Given the description of an element on the screen output the (x, y) to click on. 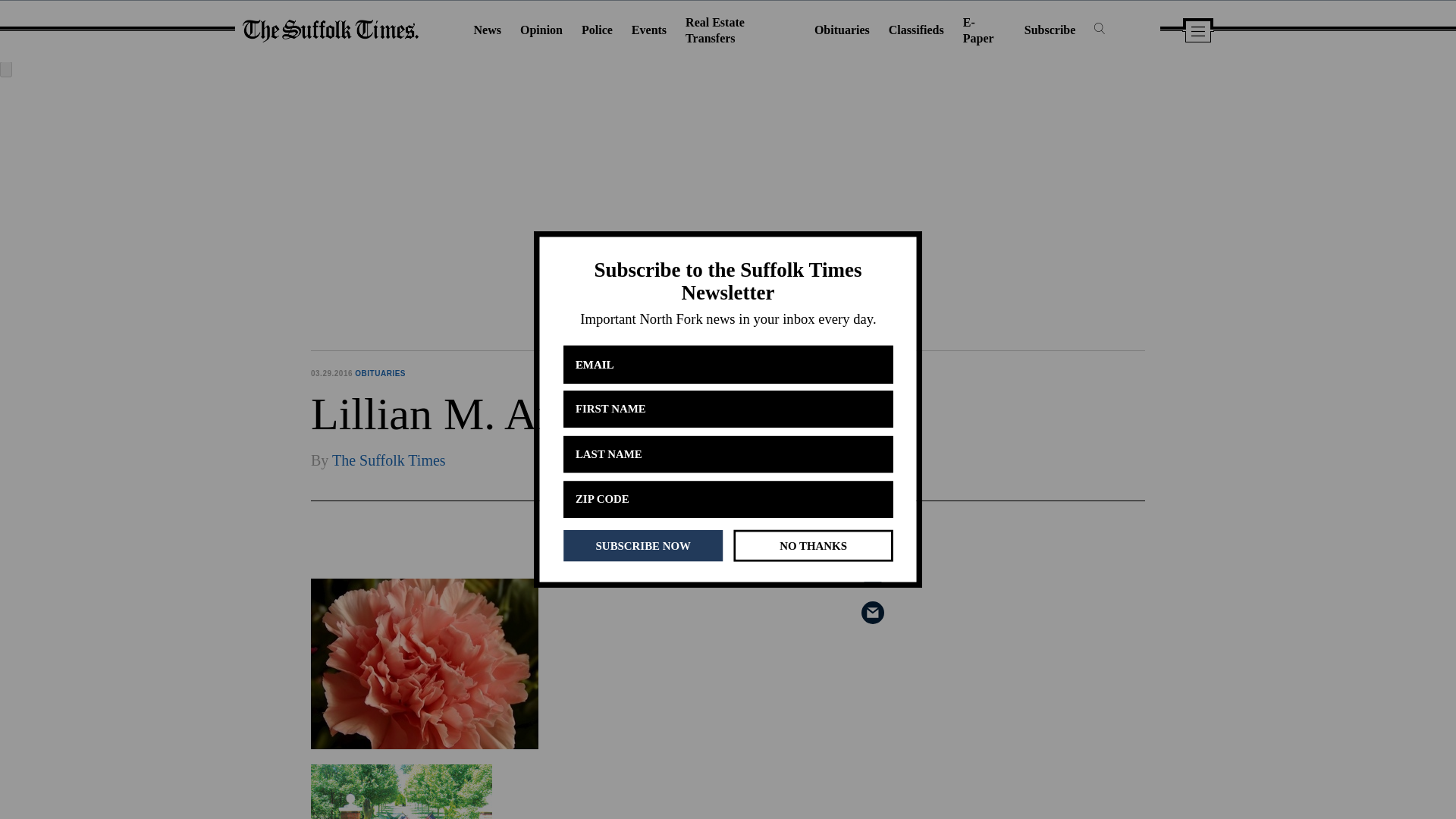
Share on Facebook. (872, 536)
Subscribe (1050, 29)
Events (648, 29)
Real Estate Transfers (714, 30)
News (487, 29)
Tweet this! (872, 574)
Classifieds (915, 29)
Opinion (540, 29)
E-Paper (978, 30)
3rd party ad content (1030, 774)
Share via email. (872, 612)
Obituaries (841, 29)
Police (596, 29)
